Given the description of an element on the screen output the (x, y) to click on. 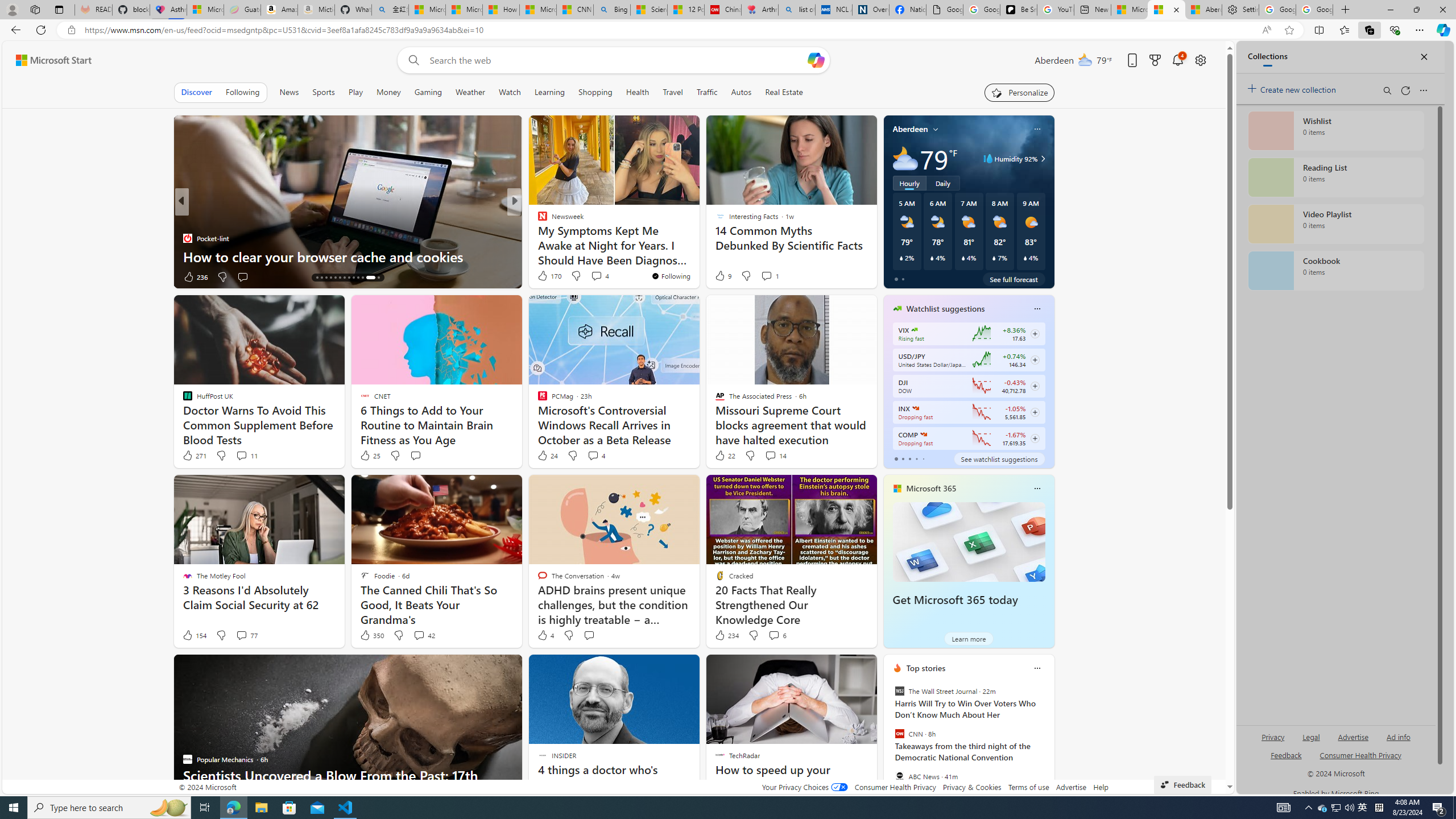
Learning (549, 92)
See more (862, 668)
Learn more (967, 638)
Arthritis: Ask Health Professionals (759, 9)
Watchlist suggestions (945, 308)
350 Like (370, 634)
Open Copilot (816, 59)
NCL Adult Asthma Inhaler Choice Guideline (833, 9)
Gaming (428, 92)
View comments 6 Comment (776, 634)
Play (354, 92)
636 Like (194, 276)
Autos (740, 92)
Health (637, 92)
